Given the description of an element on the screen output the (x, y) to click on. 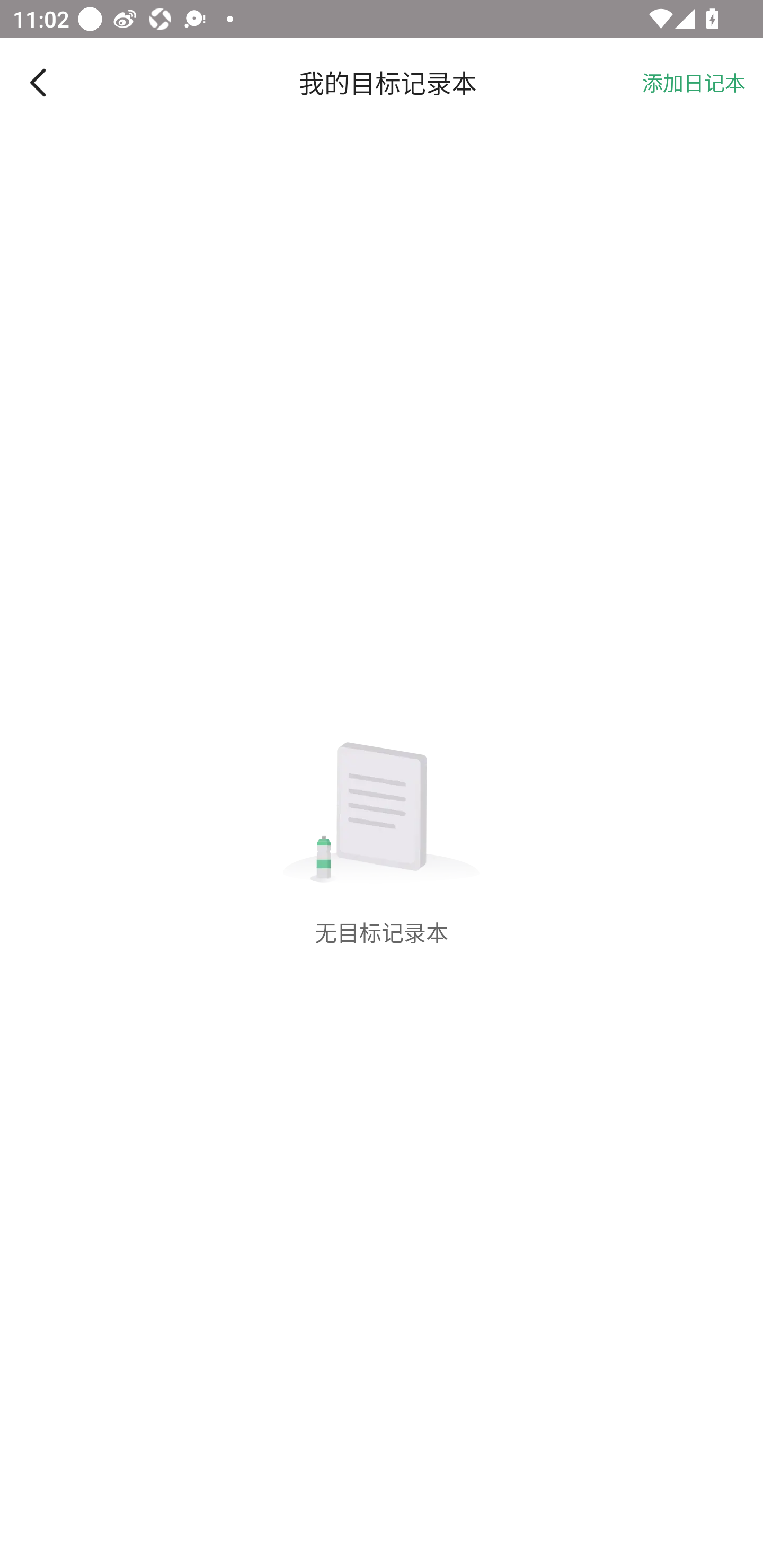
添加日记本 (693, 82)
